Given the description of an element on the screen output the (x, y) to click on. 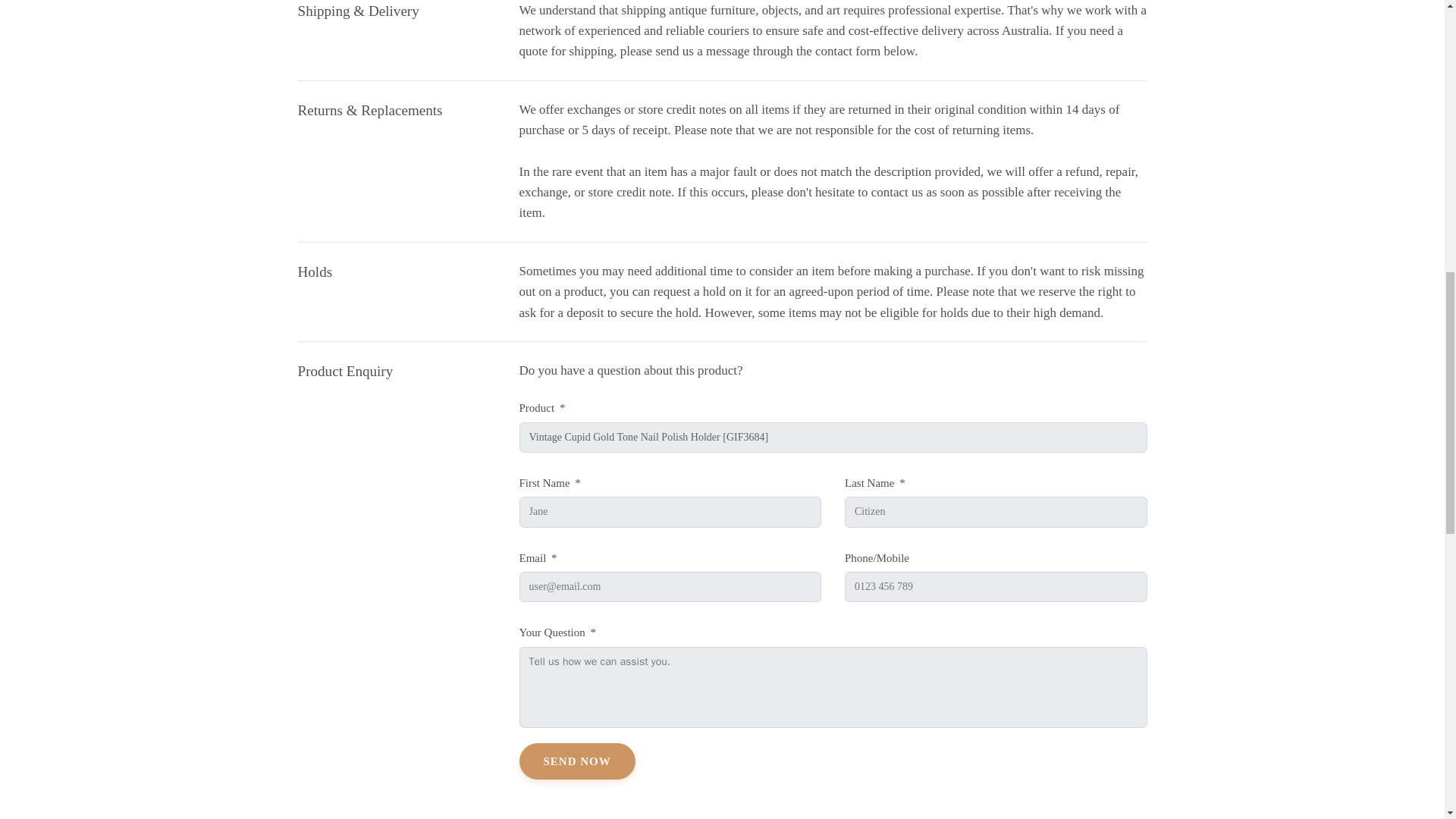
SEND NOW (576, 760)
